Given the description of an element on the screen output the (x, y) to click on. 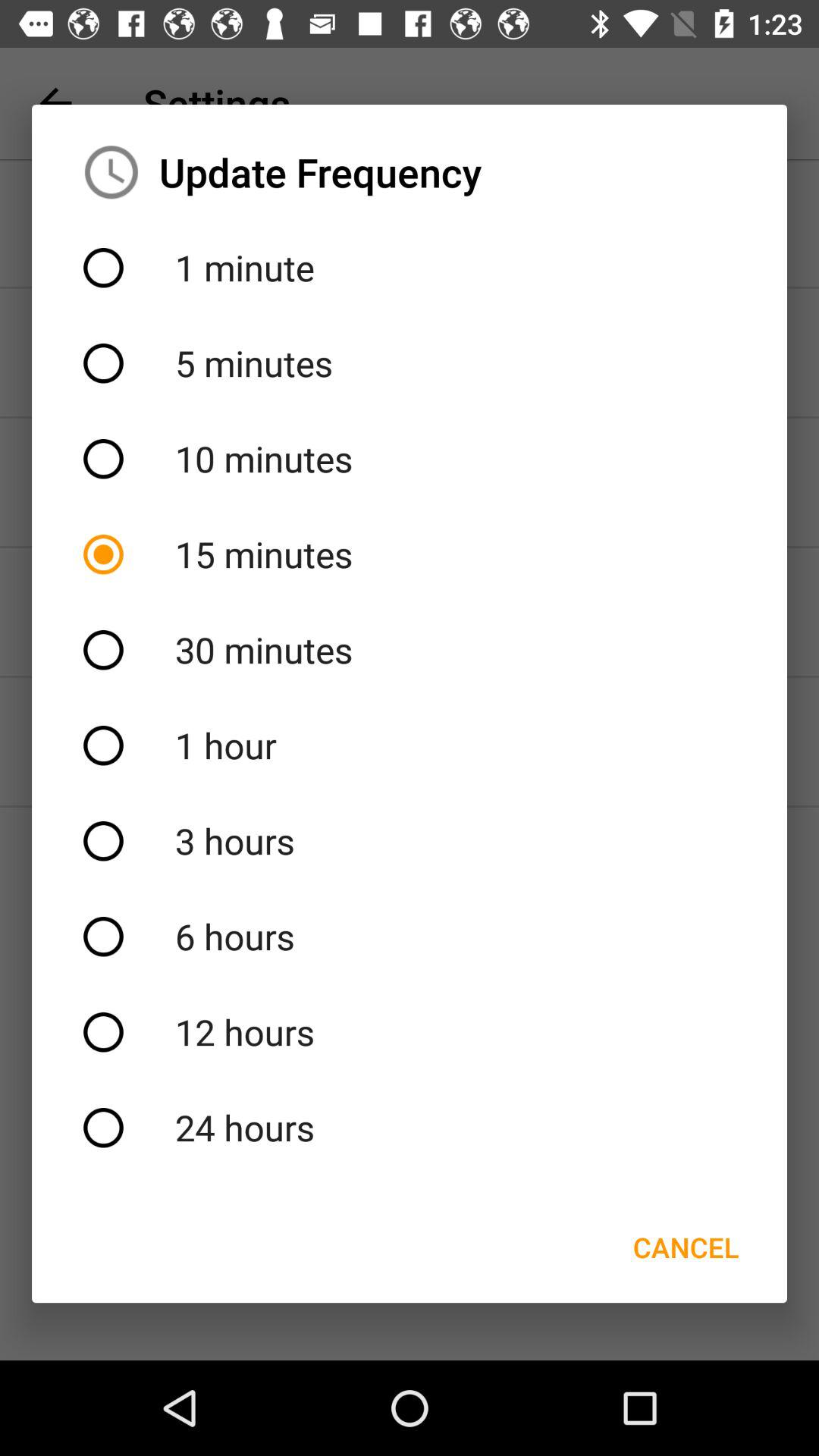
swipe until 10 minutes (409, 458)
